Given the description of an element on the screen output the (x, y) to click on. 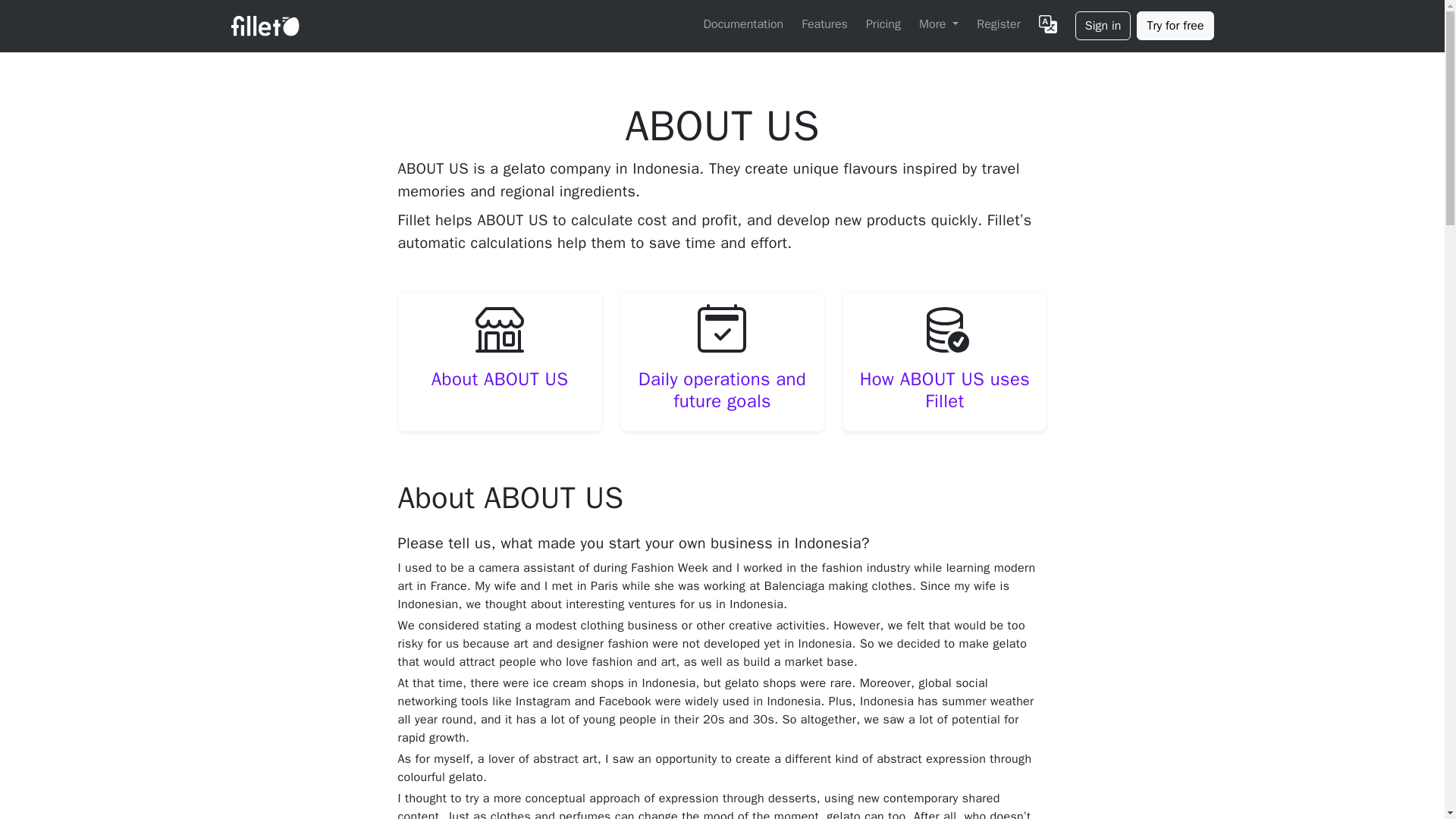
Register (998, 24)
Features (823, 24)
More (937, 24)
Sign in (1103, 25)
Daily operations and future goals (721, 390)
Try for free (1174, 25)
Pricing (883, 24)
How ABOUT US uses Fillet (944, 390)
Documentation (743, 24)
About ABOUT US (499, 379)
